Given the description of an element on the screen output the (x, y) to click on. 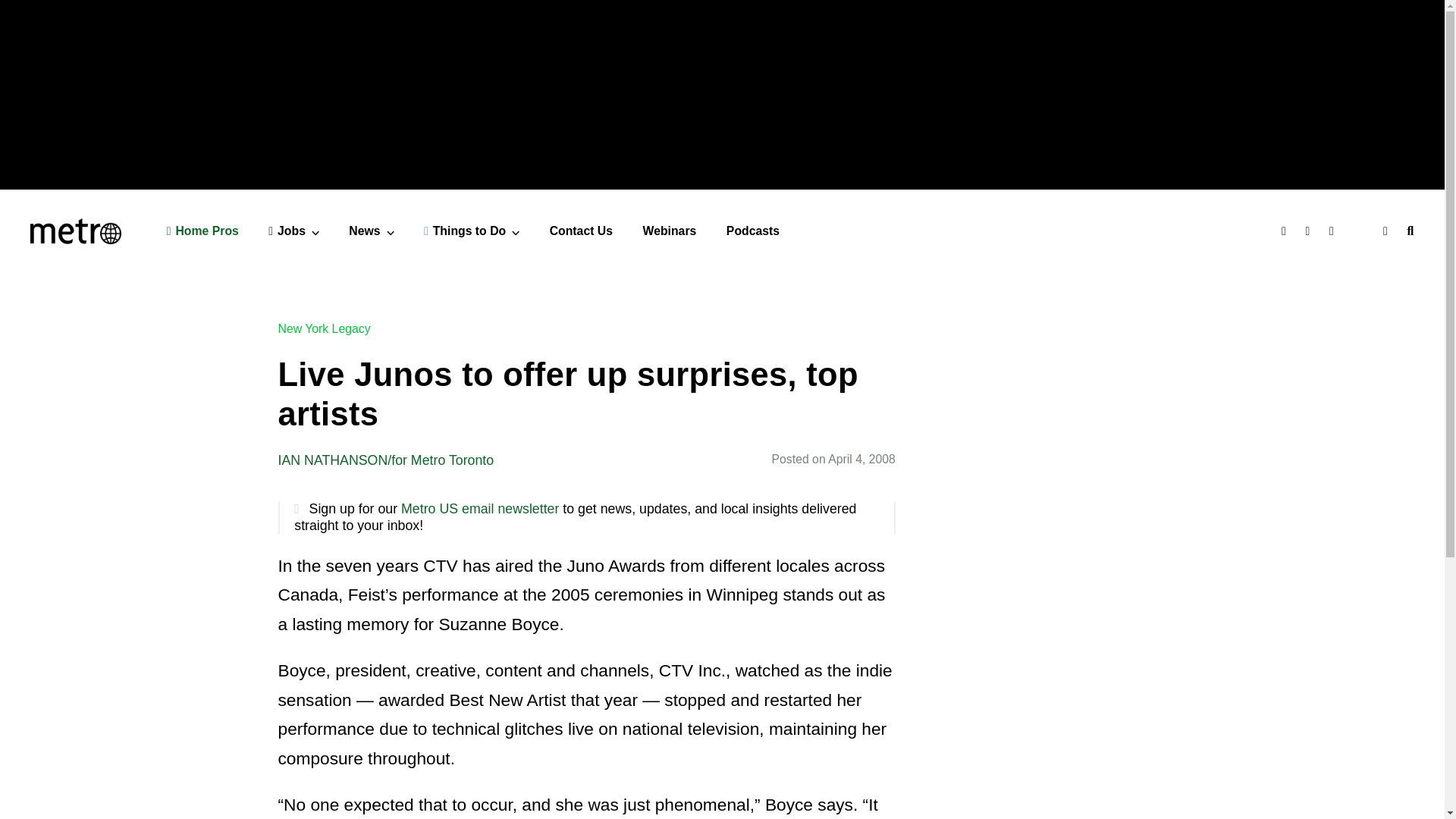
Jobs (292, 230)
Things to Do (471, 230)
Podcasts (752, 230)
Home Pros (202, 230)
News (371, 230)
Contact Us (581, 230)
Webinars (670, 230)
